Given the description of an element on the screen output the (x, y) to click on. 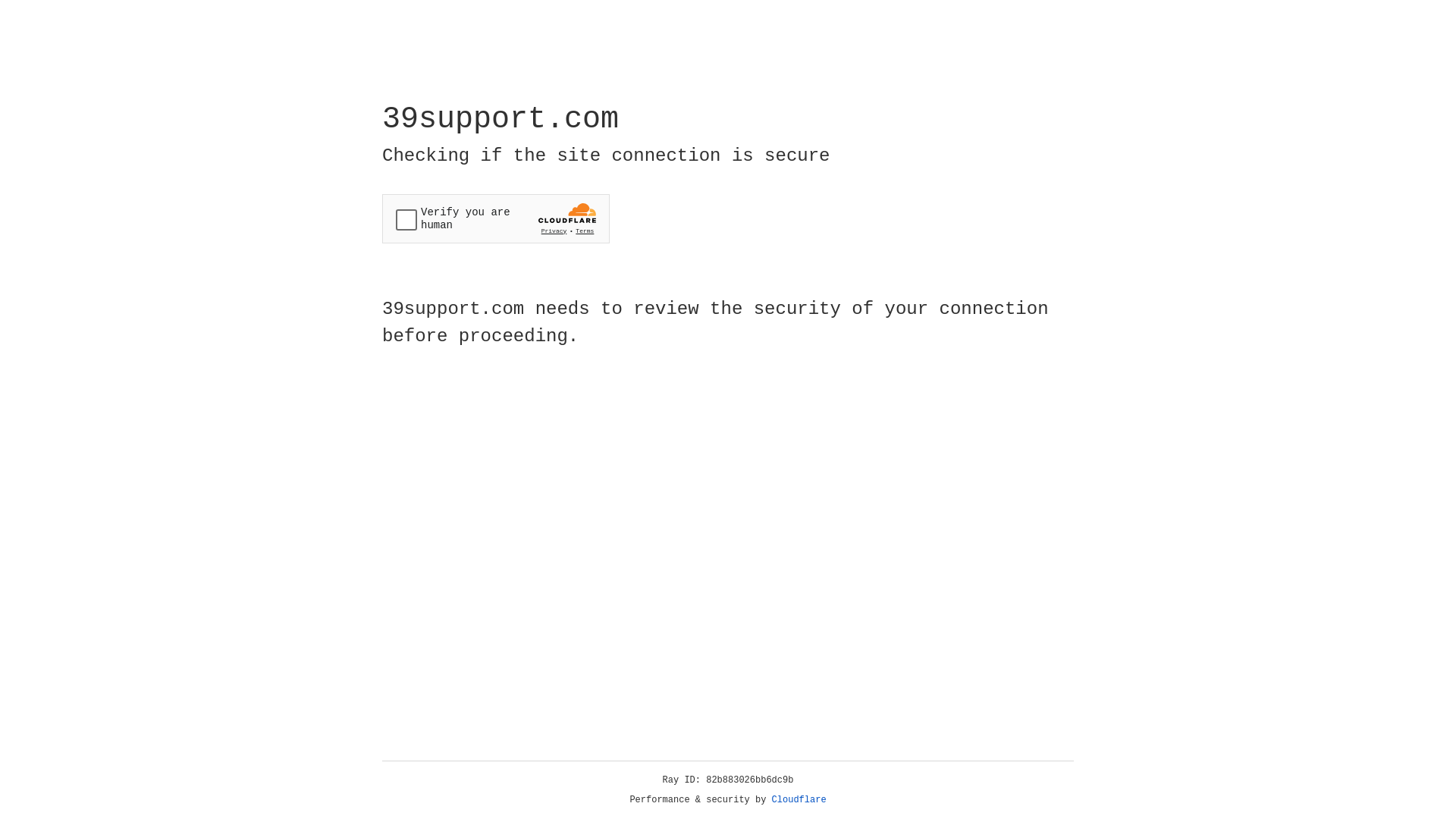
Widget containing a Cloudflare security challenge Element type: hover (495, 218)
Cloudflare Element type: text (798, 799)
